Given the description of an element on the screen output the (x, y) to click on. 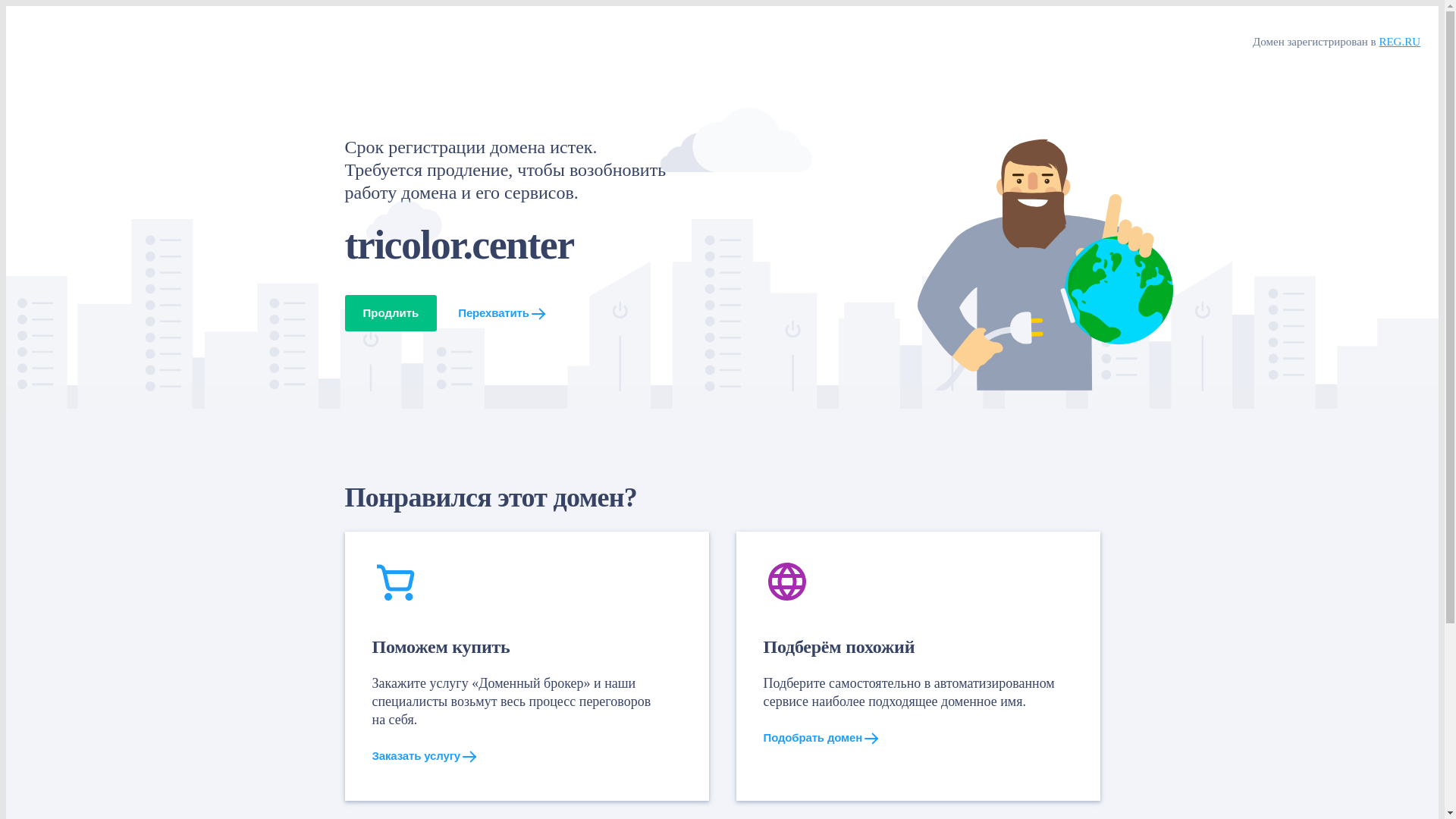
REG.RU Element type: text (1399, 41)
